Given the description of an element on the screen output the (x, y) to click on. 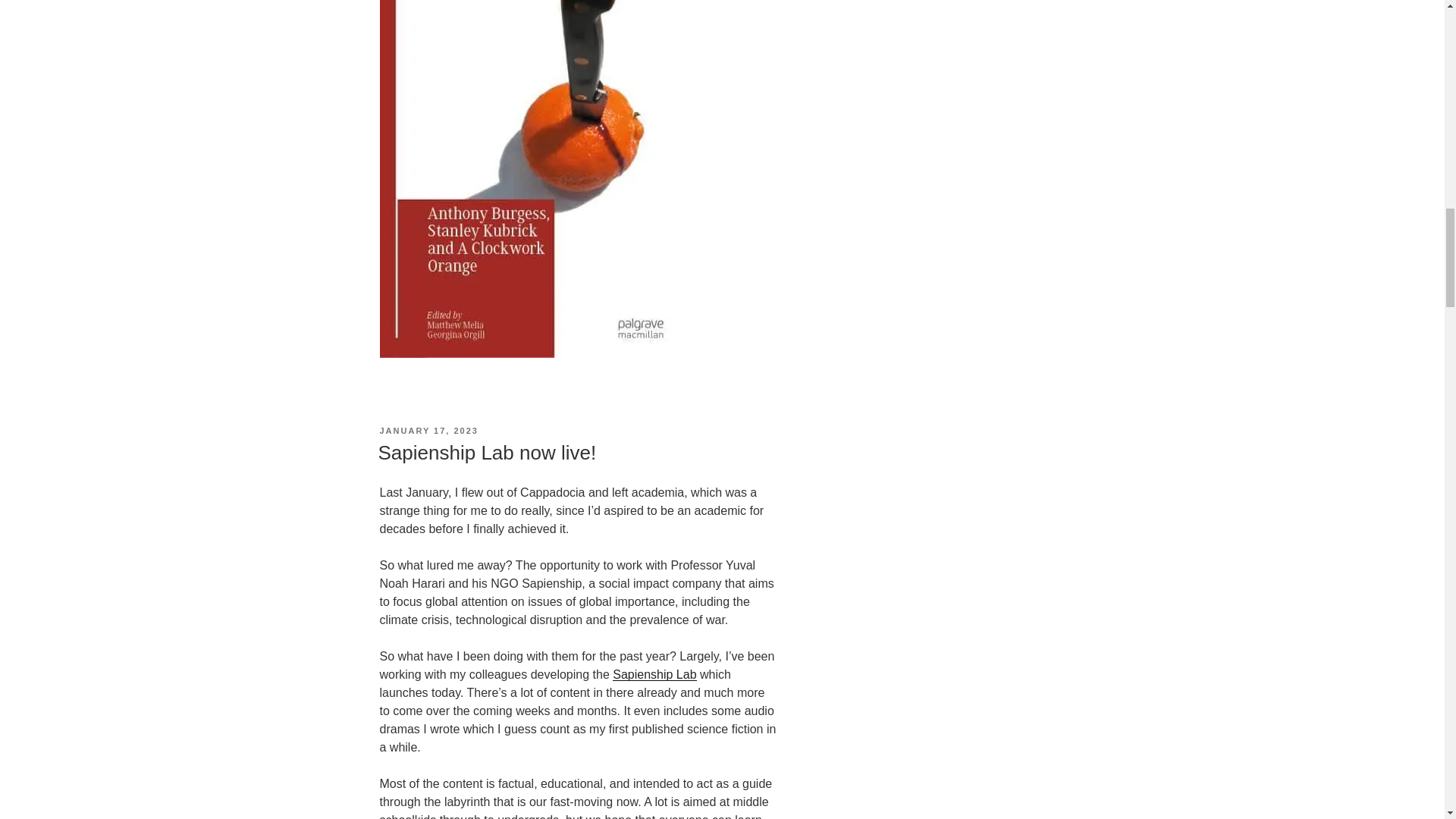
Sapienship Lab (653, 674)
Sapienship Lab now live! (486, 452)
JANUARY 17, 2023 (427, 429)
